Given the description of an element on the screen output the (x, y) to click on. 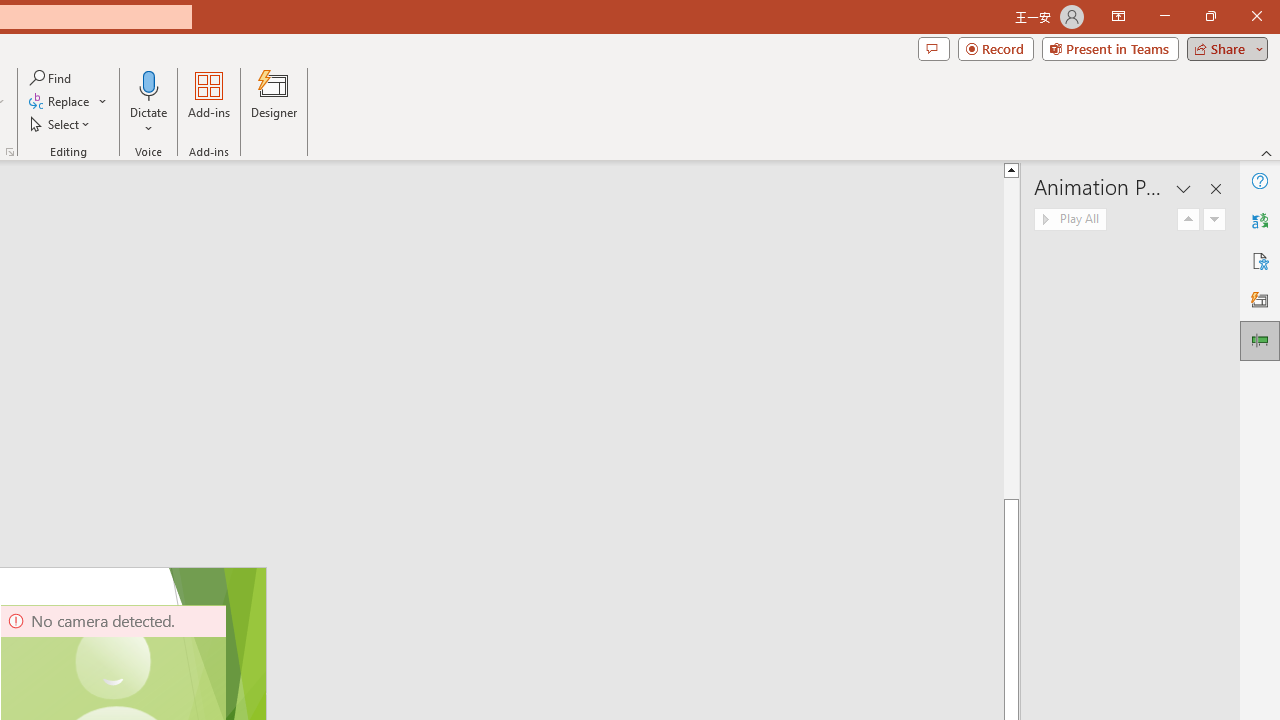
Move Down (1214, 219)
